Given the description of an element on the screen output the (x, y) to click on. 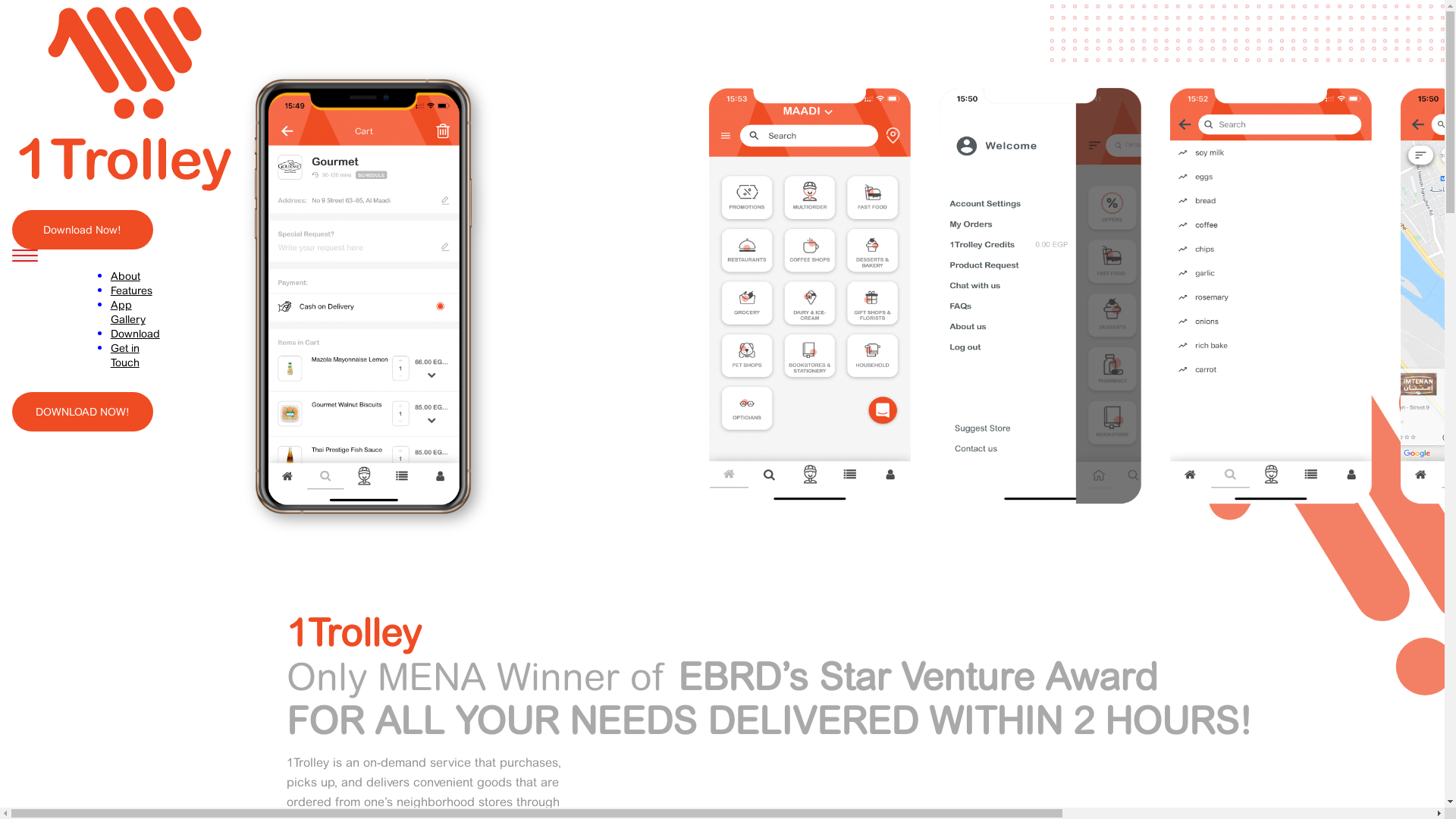
Features Element type: text (131, 290)
Download Now! Element type: text (82, 229)
Download Element type: text (135, 333)
DOWNLOAD NOW! Element type: text (82, 411)
App Gallery Element type: text (127, 312)
About Element type: text (125, 276)
Get in Touch Element type: text (124, 355)
